Given the description of an element on the screen output the (x, y) to click on. 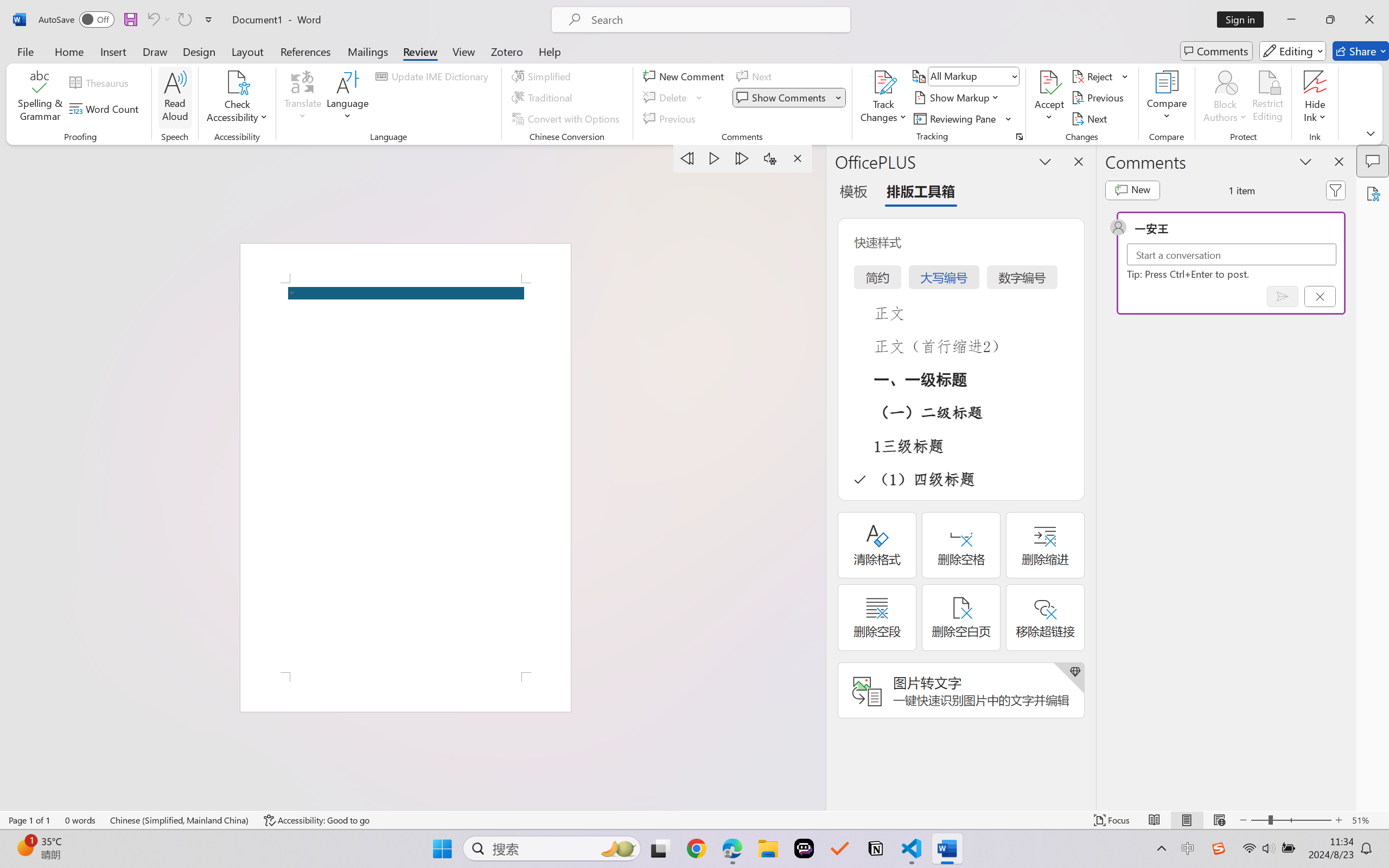
Stop (797, 158)
Previous (1099, 97)
Filter (1335, 190)
Thesaurus... (101, 82)
Play (715, 158)
Previous Paragraph (687, 158)
Convert with Options... (567, 118)
